Given the description of an element on the screen output the (x, y) to click on. 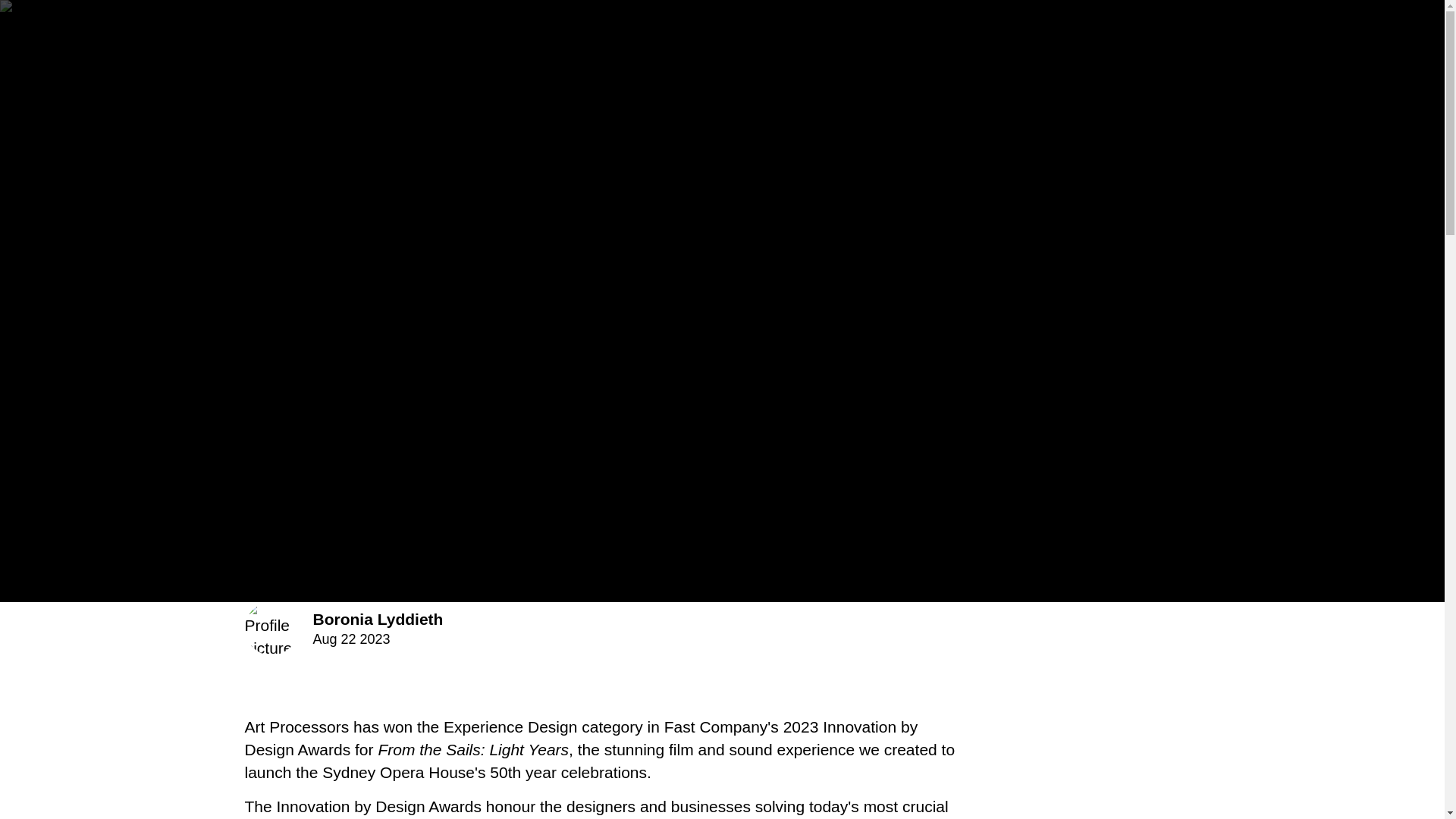
Contact (1367, 38)
Experiments (1108, 38)
About us (912, 38)
News (1272, 38)
Our Work (1012, 38)
Careers (1200, 38)
